Given the description of an element on the screen output the (x, y) to click on. 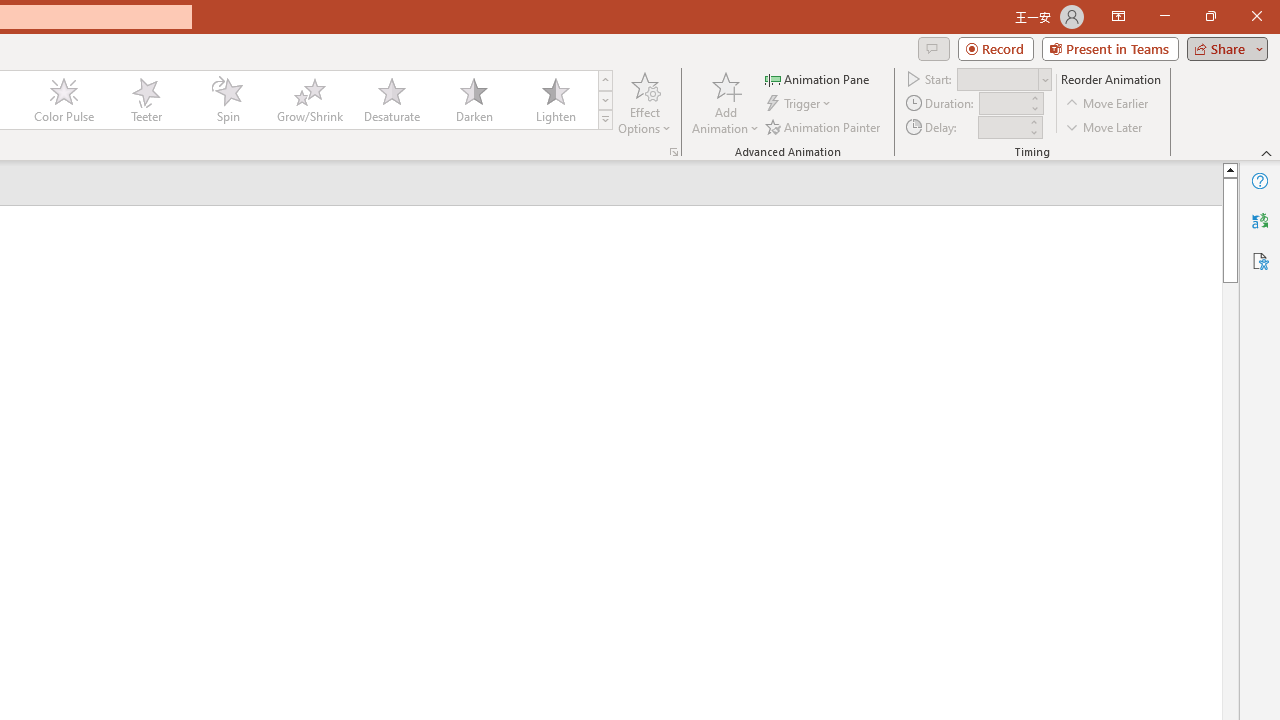
Animation Painter (824, 126)
Move Later (1105, 126)
Darken (473, 100)
Animation Styles (605, 120)
Animation Delay (1002, 127)
Animation Pane (818, 78)
Color Pulse (63, 100)
